Given the description of an element on the screen output the (x, y) to click on. 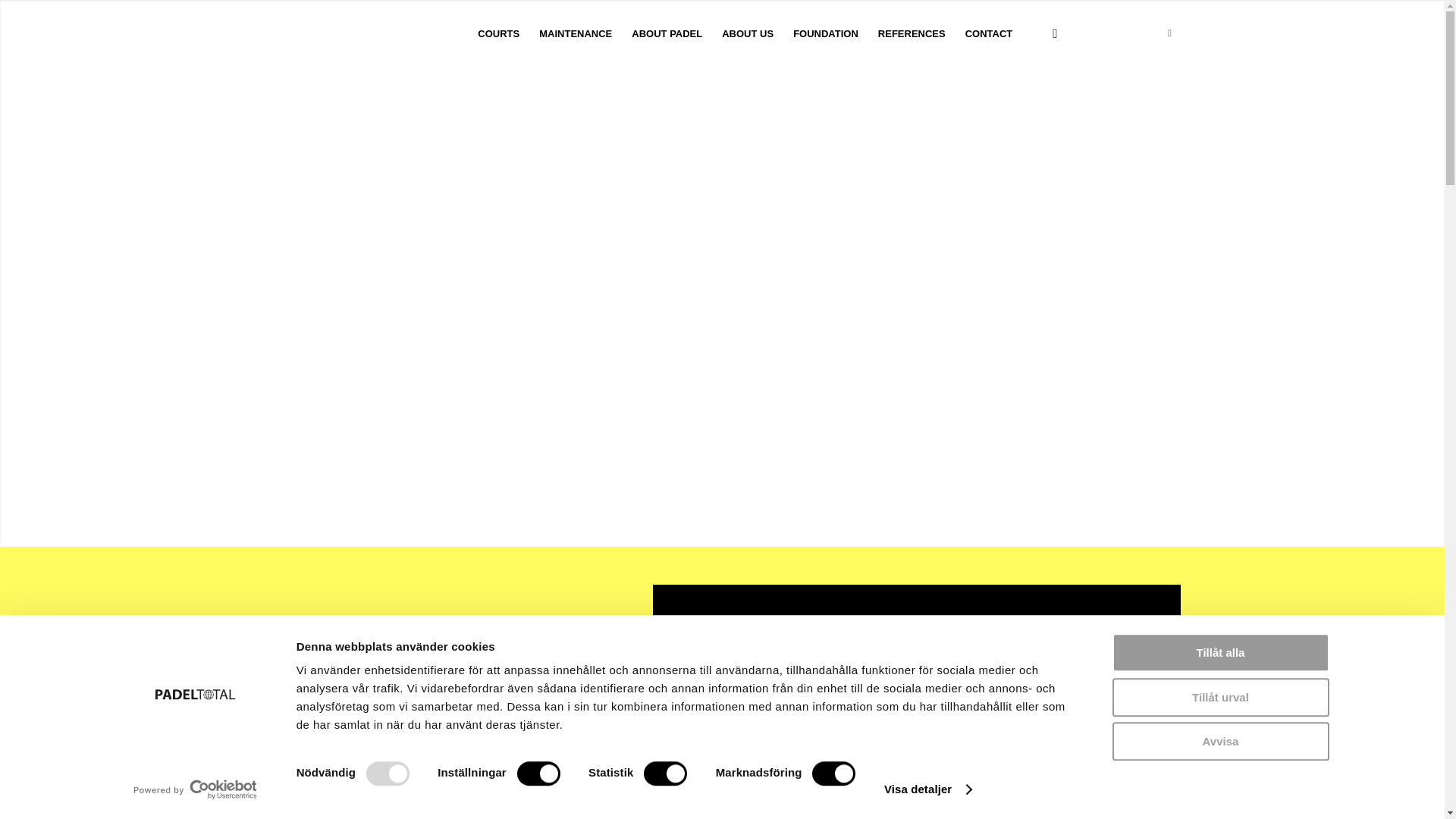
Visa detaljer (927, 789)
